Given the description of an element on the screen output the (x, y) to click on. 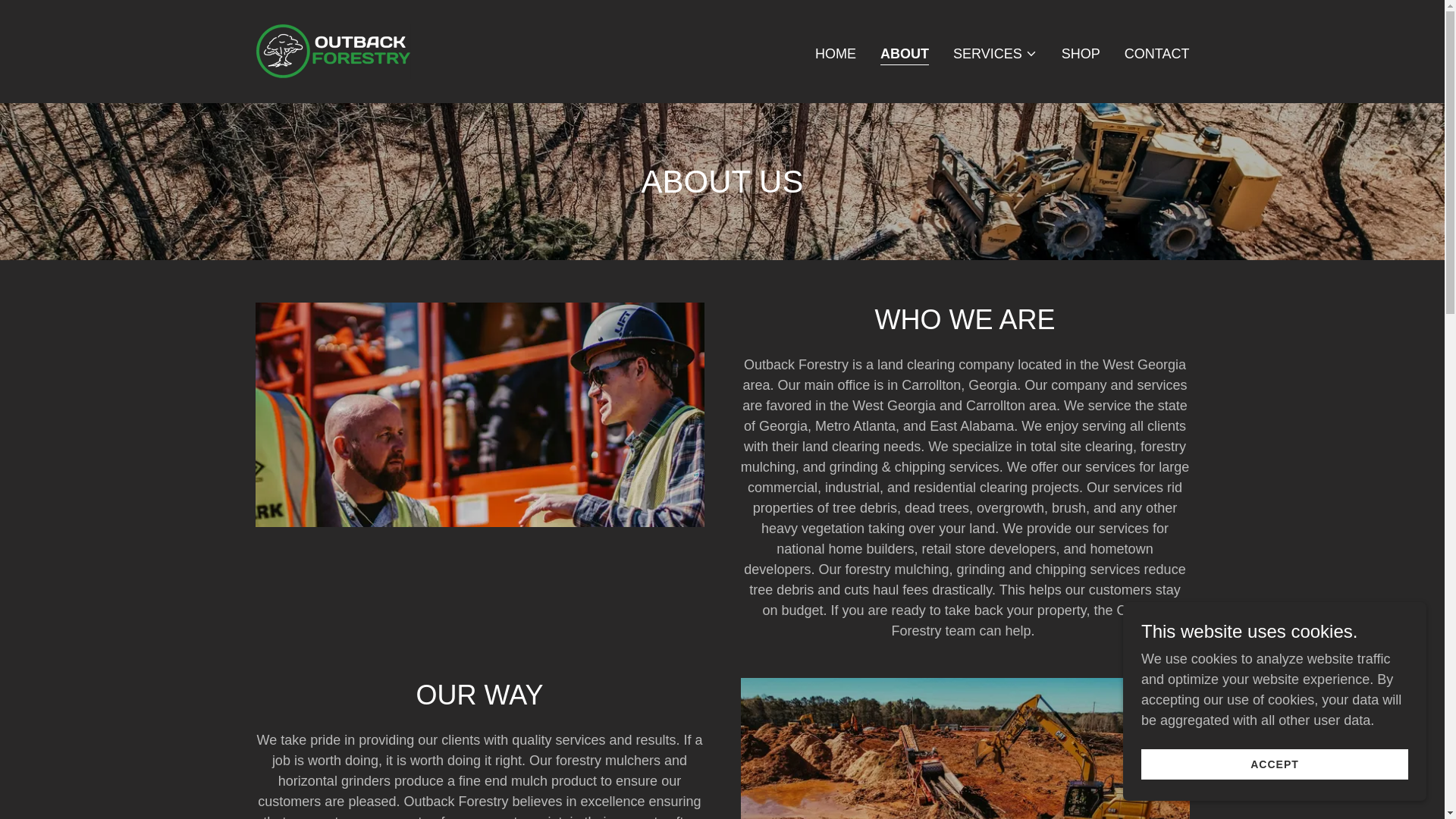
SERVICES (994, 53)
CONTACT (1156, 52)
SHOP (1081, 52)
ABOUT (904, 54)
HOME (835, 52)
ACCEPT (1274, 764)
